Given the description of an element on the screen output the (x, y) to click on. 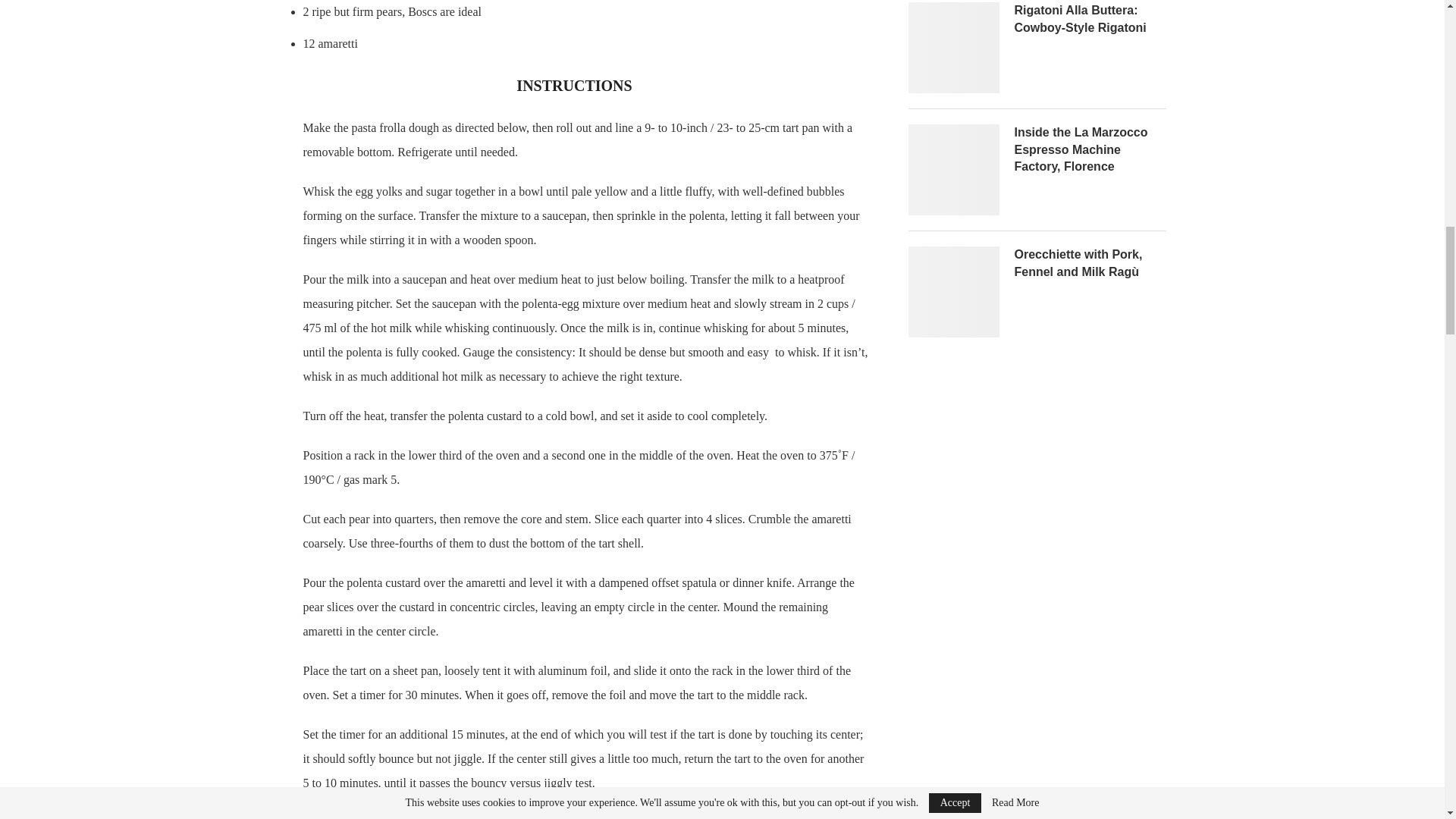
Rigatoni Alla Buttera: Cowboy-Style Rigatoni (953, 47)
Rigatoni Alla Buttera: Cowboy-Style Rigatoni (1090, 19)
